Given the description of an element on the screen output the (x, y) to click on. 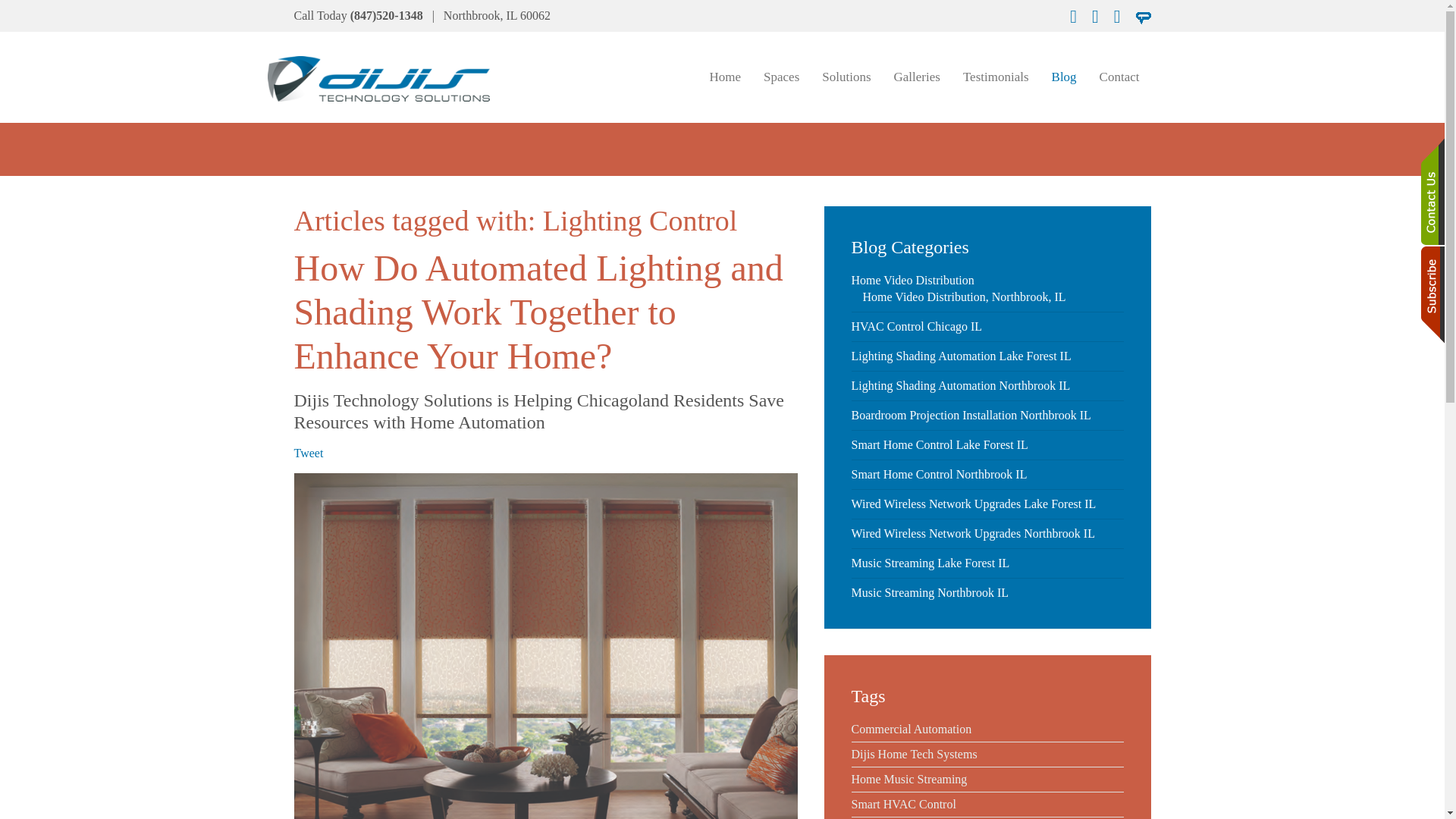
Home Video Distribution (912, 279)
Boardroom Projection Installation Northbrook IL (970, 414)
Lighting Shading Automation Lake Forest IL (960, 355)
Testimonials (996, 76)
Home Video Distribution, Northbrook, IL (964, 296)
Tweet (308, 452)
Lighting Shading Automation Northbrook IL (960, 385)
HVAC Control Chicago IL (915, 326)
